Given the description of an element on the screen output the (x, y) to click on. 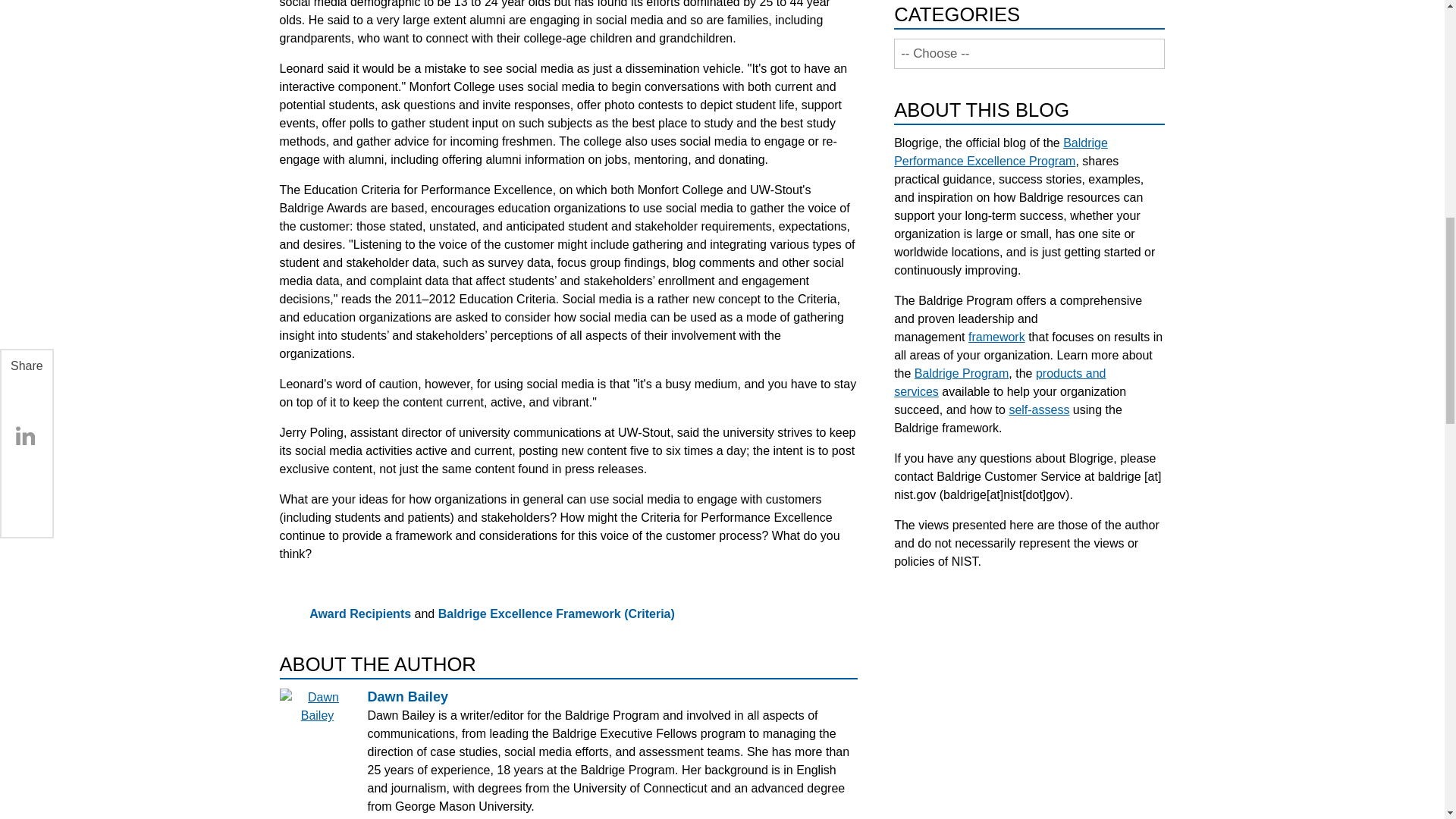
-- Choose -- (1028, 53)
